Given the description of an element on the screen output the (x, y) to click on. 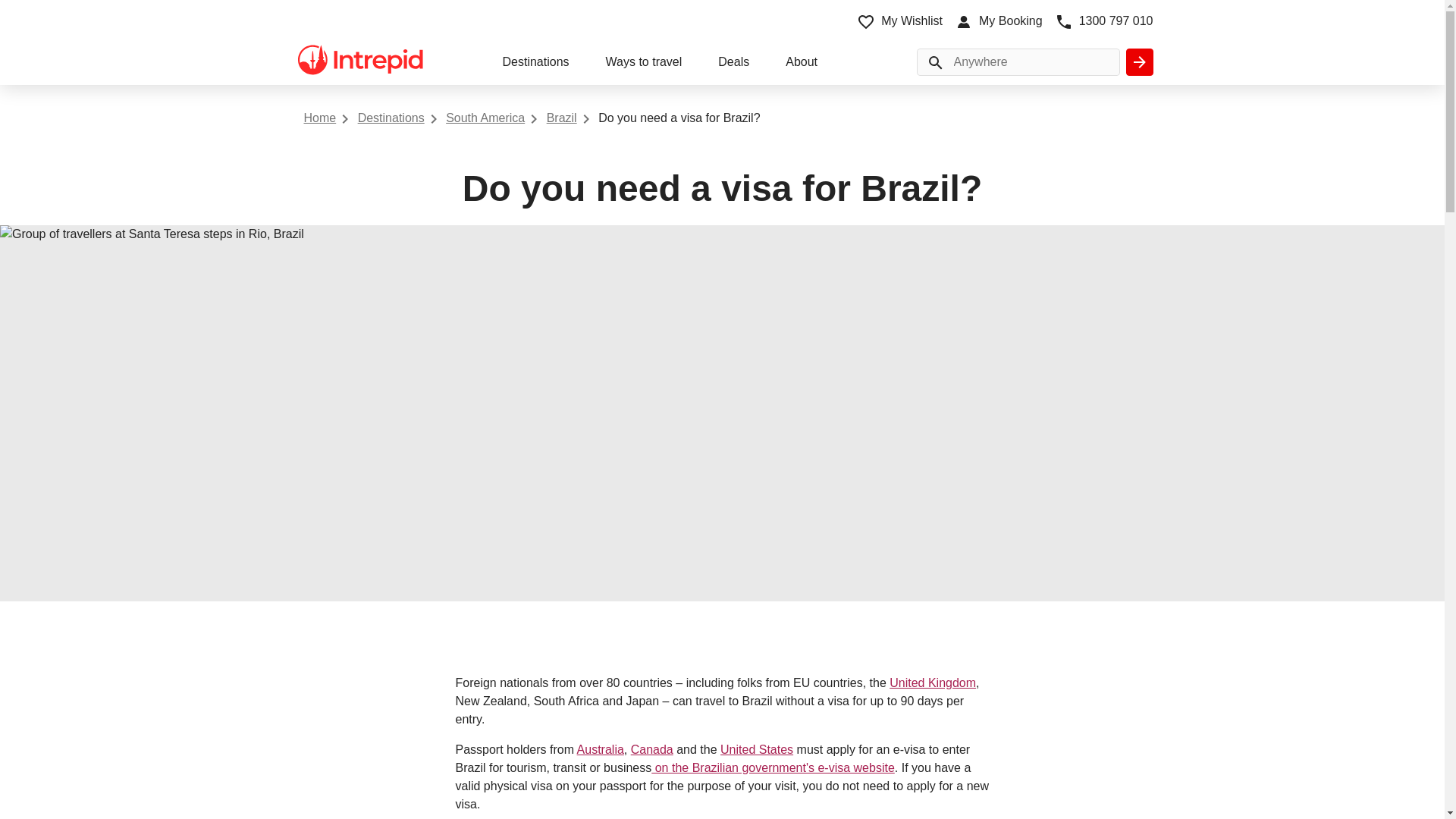
Ways to travel (644, 63)
1300 797 010 (1103, 21)
My Wishlist (899, 21)
Deals (733, 63)
Destinations (534, 63)
About (801, 63)
My Booking (998, 21)
